Given the description of an element on the screen output the (x, y) to click on. 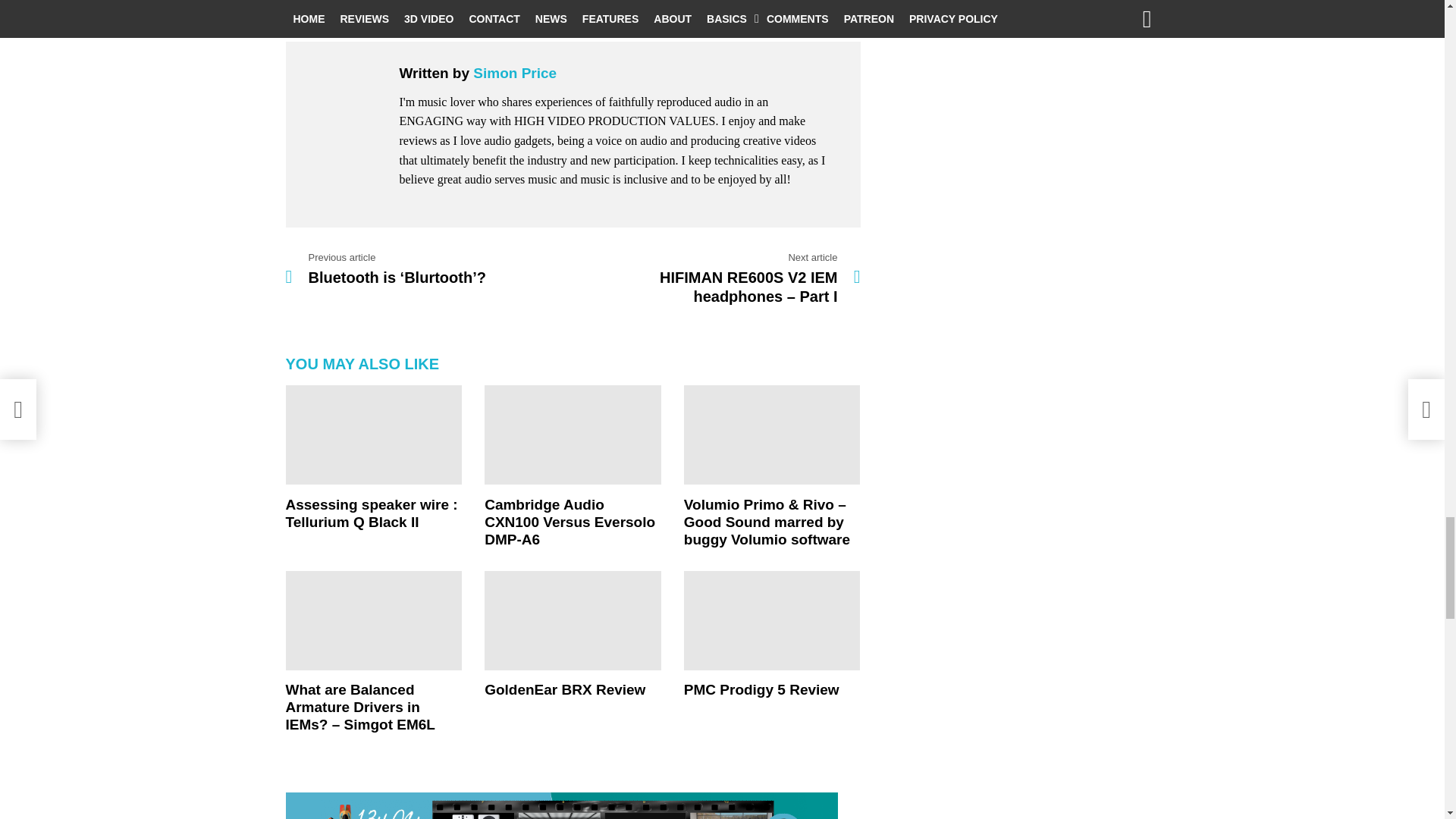
Assessing speaker wire : Tellurium Q Black II (373, 434)
Cambridge Audio CXN100 Versus Eversolo DMP-A6 (572, 434)
